Given the description of an element on the screen output the (x, y) to click on. 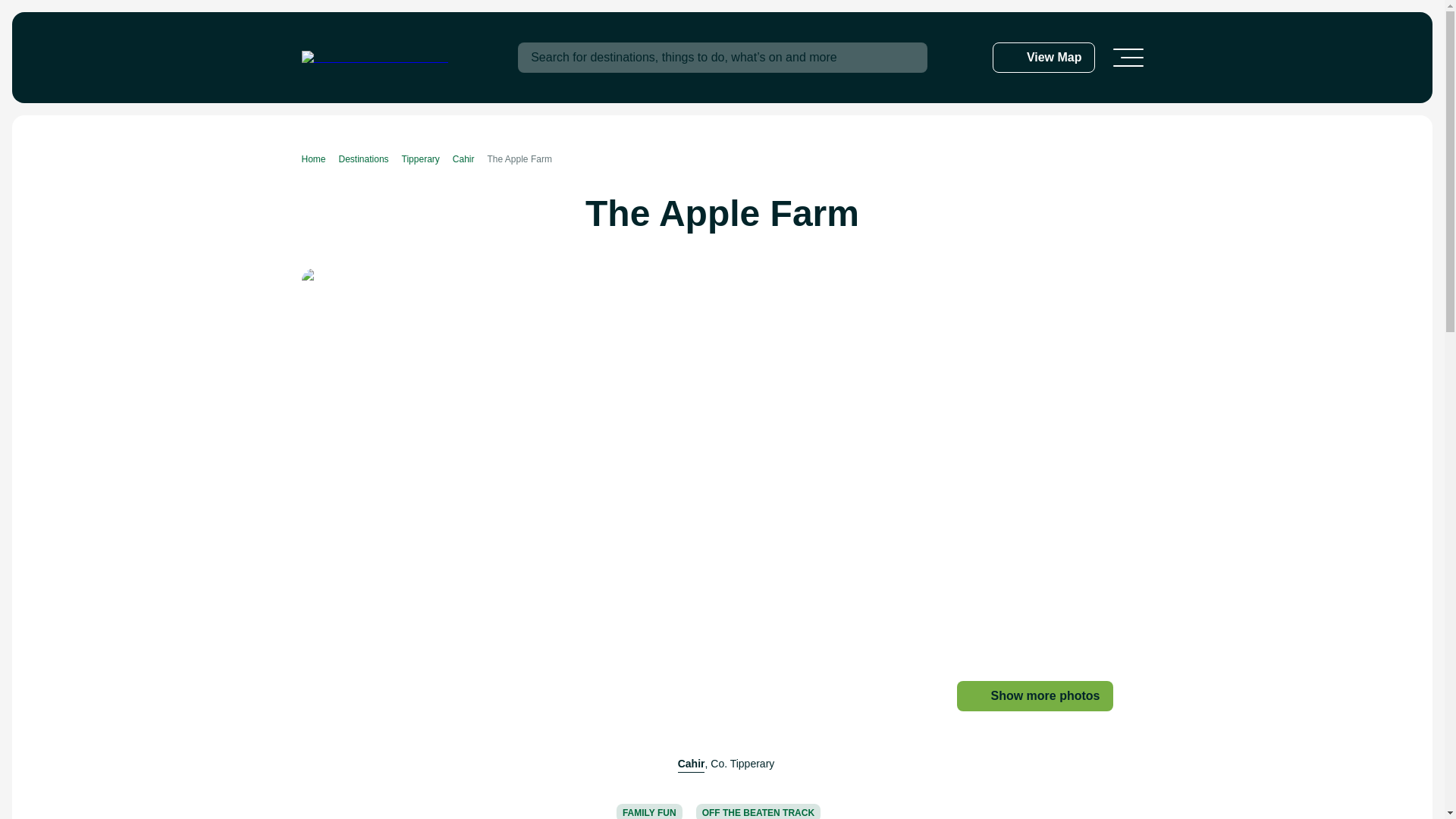
FAMILY FUN (648, 811)
Show more photos (1034, 695)
Destinations (370, 159)
Cahir (469, 158)
Cahir (691, 763)
OFF THE BEATEN TRACK (758, 811)
Home (320, 159)
Tipperary (426, 159)
View Map (1043, 57)
Click to go back to the homepage (374, 57)
